Given the description of an element on the screen output the (x, y) to click on. 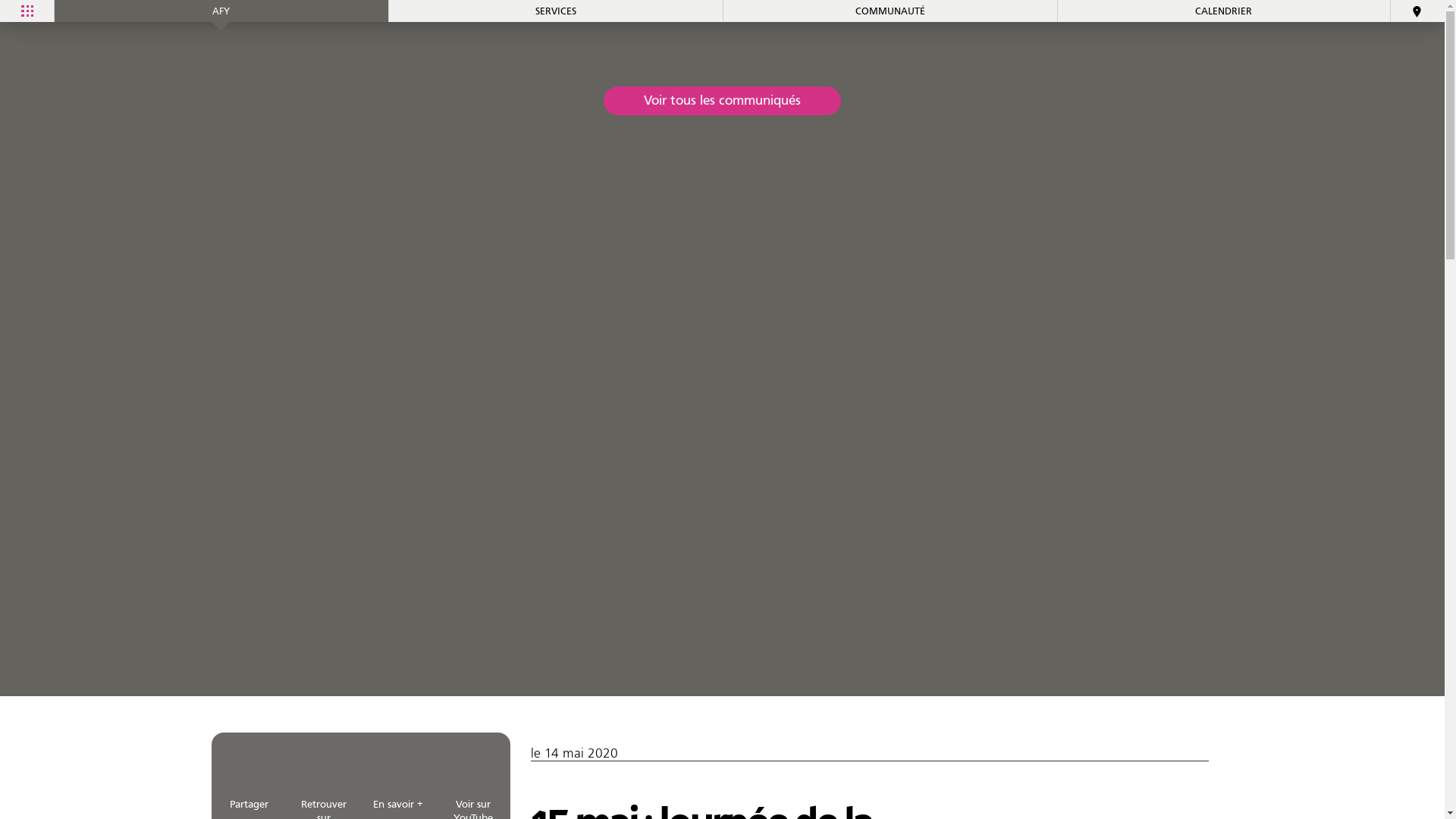
SERVICES Element type: text (555, 10)
CALENDRIER Element type: text (1224, 10)
AFY Element type: text (220, 10)
